Given the description of an element on the screen output the (x, y) to click on. 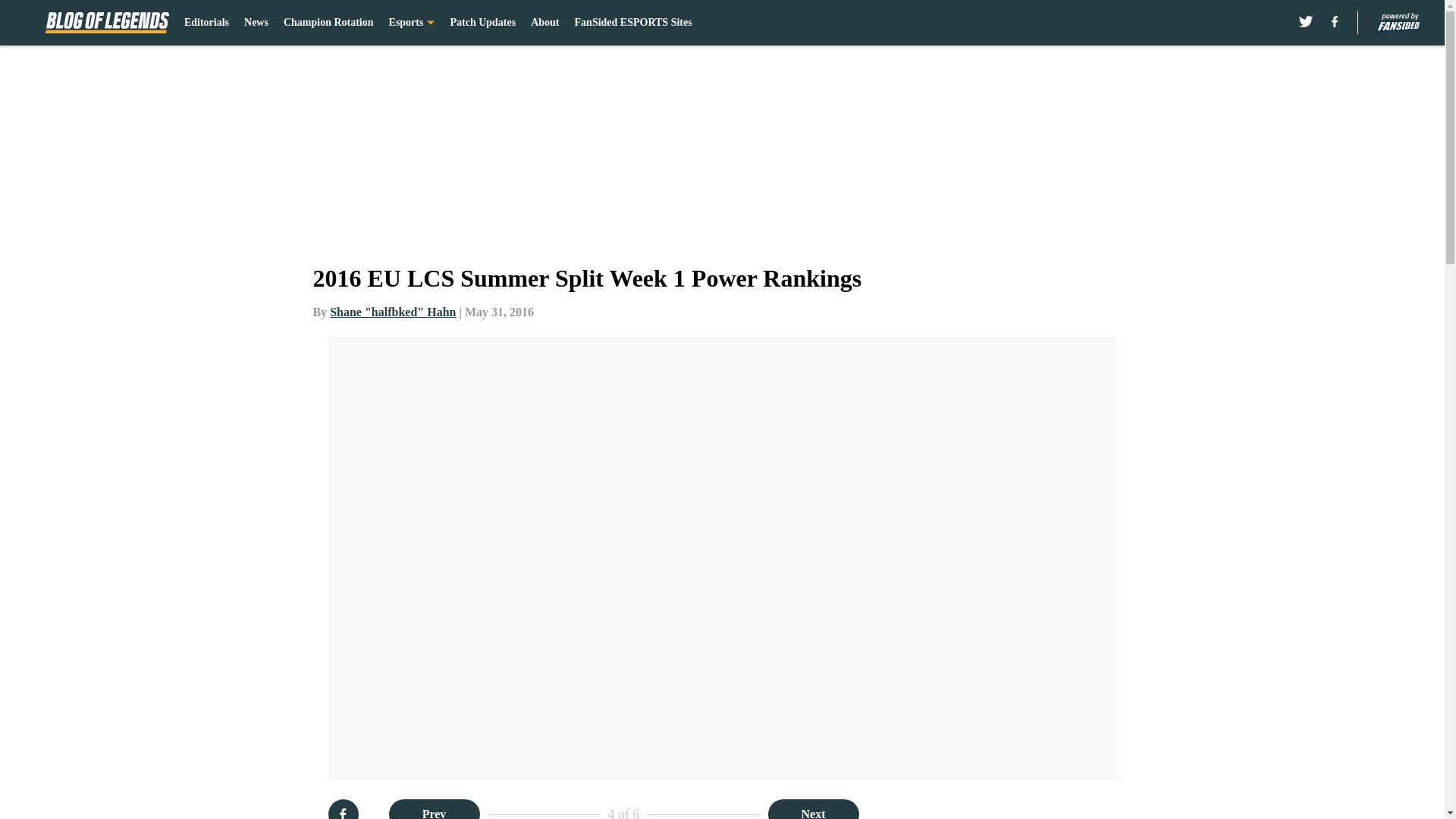
Prev (433, 809)
About (545, 22)
Champion Rotation (328, 22)
Shane "halfbked" Hahn (392, 311)
Patch Updates (482, 22)
Editorials (206, 22)
News (255, 22)
FanSided ESPORTS Sites (634, 22)
Next (813, 809)
